Given the description of an element on the screen output the (x, y) to click on. 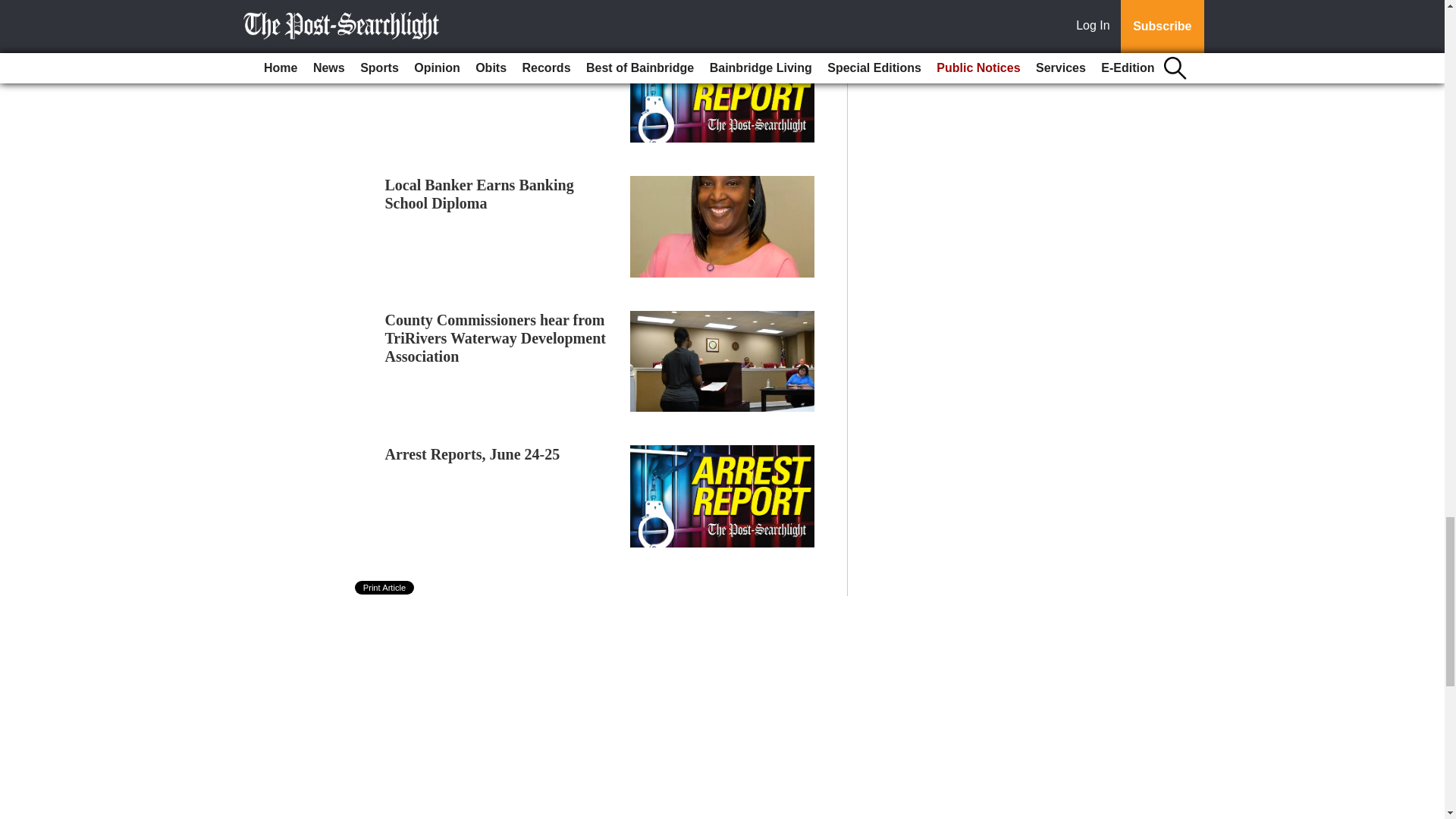
Arrest Reports, June 28- July 1 (486, 49)
Arrest Reports, June 24-25 (472, 453)
Arrest Reports, June 28- July 1 (486, 49)
Local Banker Earns Banking School Diploma (479, 193)
Local Banker Earns Banking School Diploma (479, 193)
